Given the description of an element on the screen output the (x, y) to click on. 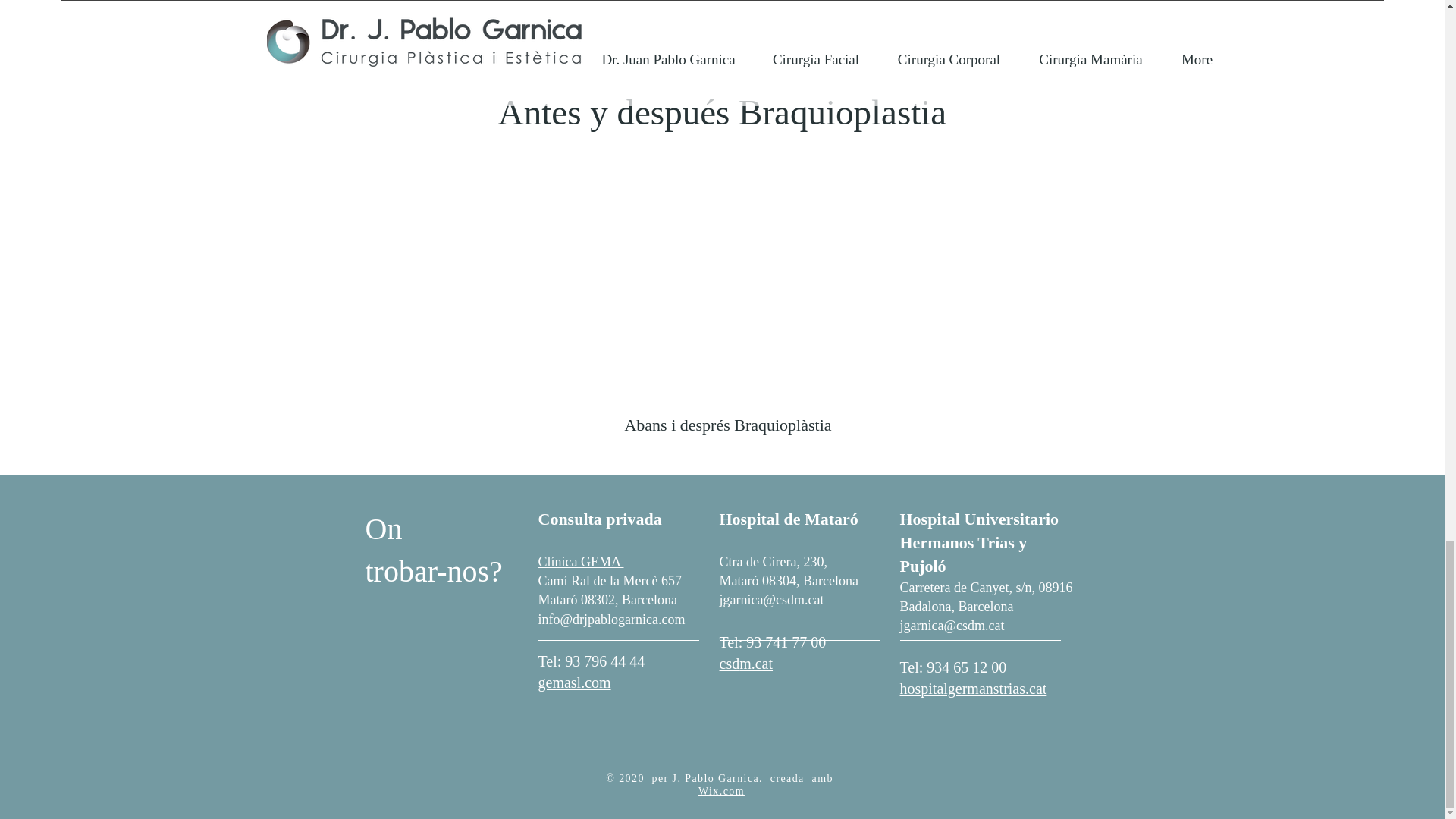
gemasl.com (574, 682)
csd (729, 663)
m.cat (756, 663)
